Given the description of an element on the screen output the (x, y) to click on. 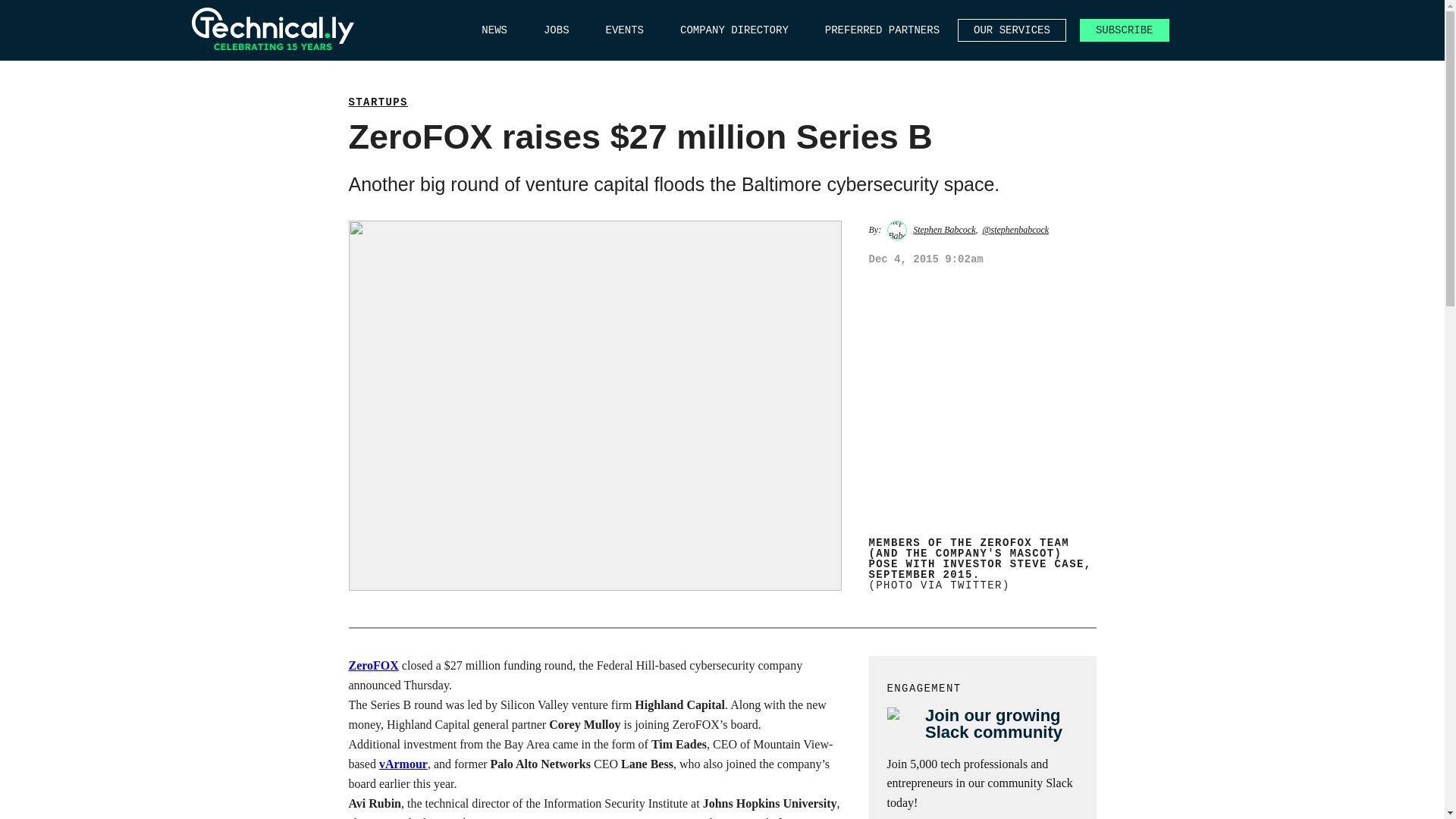
News (493, 30)
COMPANY DIRECTORY (734, 30)
Stephen Babcock (943, 229)
EVENTS (624, 30)
OUR SERVICES (1011, 29)
Our Services (1011, 29)
Jobs Board (556, 30)
JOBS (556, 30)
STARTUPS (378, 102)
ZeroFOX (373, 664)
